Given the description of an element on the screen output the (x, y) to click on. 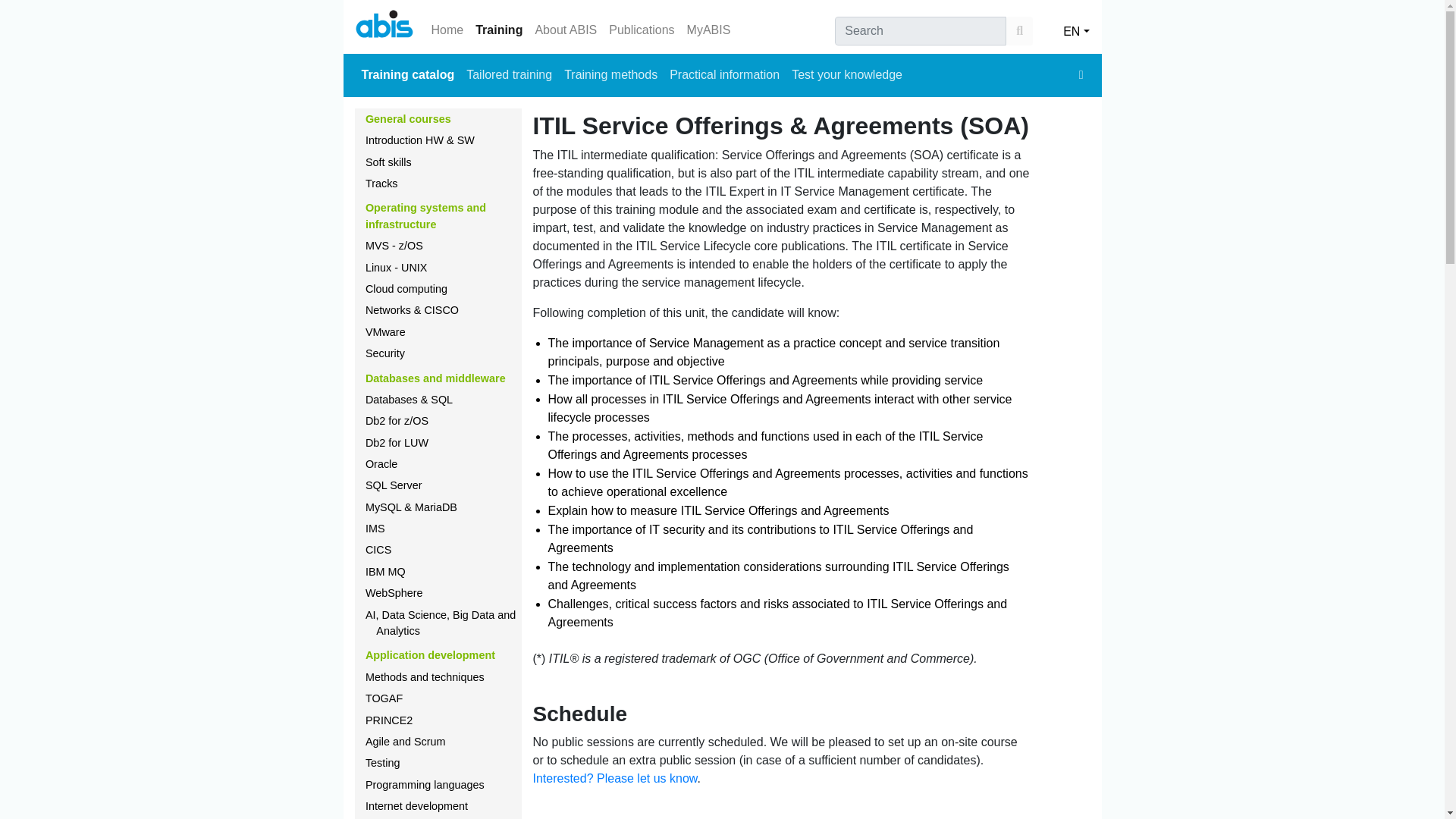
Test your knowledge (847, 74)
Linux - UNIX (396, 267)
Soft skills (388, 162)
Tracks (381, 183)
EN (1075, 26)
Practical information (724, 74)
Home (446, 30)
Training methods (610, 74)
Security (384, 353)
MyABIS (708, 30)
About ABIS (565, 30)
Publications (640, 30)
VMware (385, 331)
Cloud computing (405, 288)
Tailored training (508, 74)
